Given the description of an element on the screen output the (x, y) to click on. 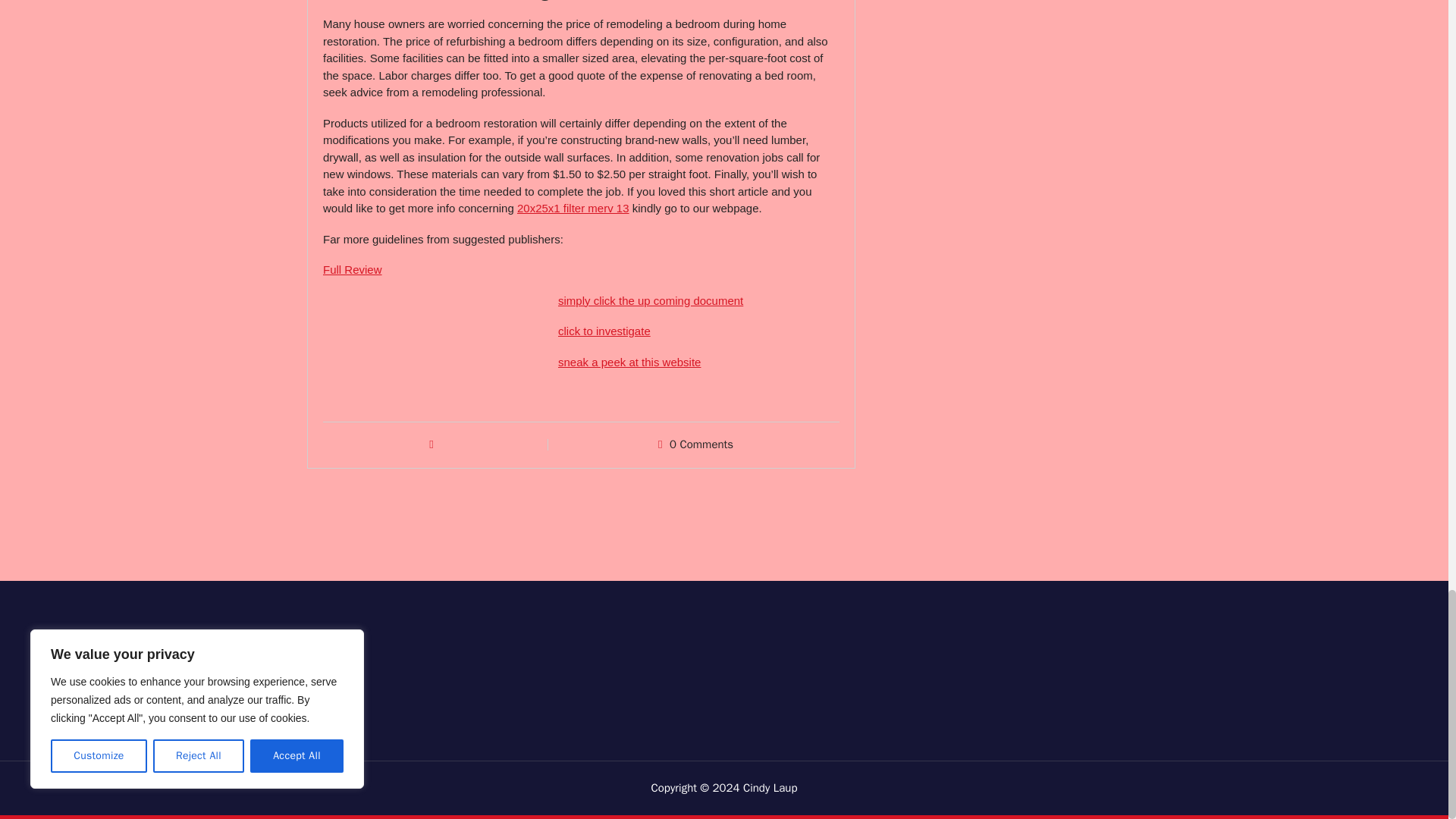
simply click the up coming document (649, 300)
Full Review (352, 269)
sneak a peek at this website (628, 361)
click to investigate (603, 330)
20x25x1 filter merv 13 (572, 207)
